Given the description of an element on the screen output the (x, y) to click on. 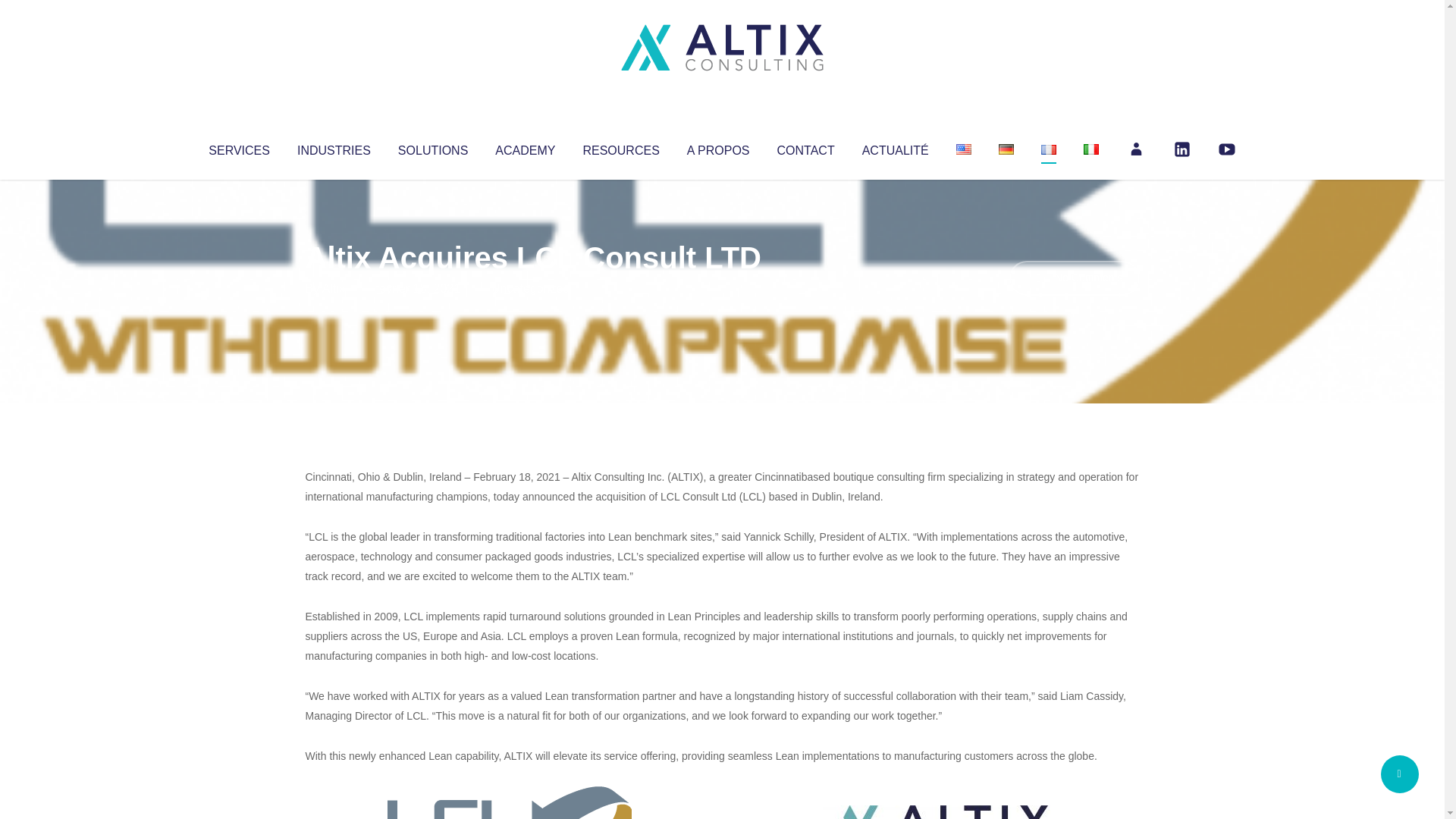
Uncategorized (530, 287)
A PROPOS (718, 146)
Articles par Altix (333, 287)
SERVICES (238, 146)
SOLUTIONS (432, 146)
INDUSTRIES (334, 146)
No Comments (1073, 278)
Altix (333, 287)
ACADEMY (524, 146)
RESOURCES (620, 146)
